Given the description of an element on the screen output the (x, y) to click on. 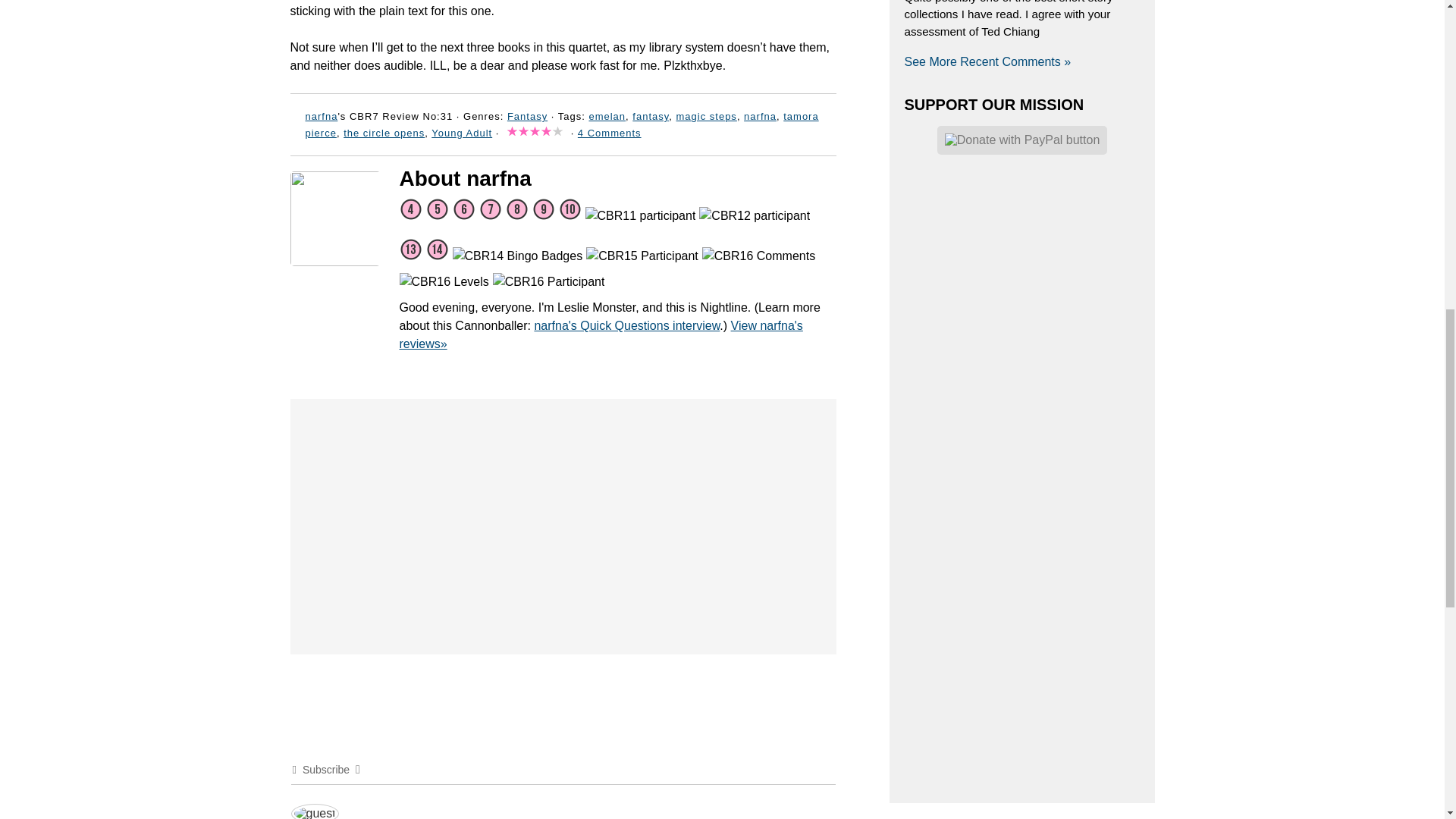
CBR12 participant (753, 216)
4 out of 5 stars (534, 132)
CBR11 participant (640, 216)
